Given the description of an element on the screen output the (x, y) to click on. 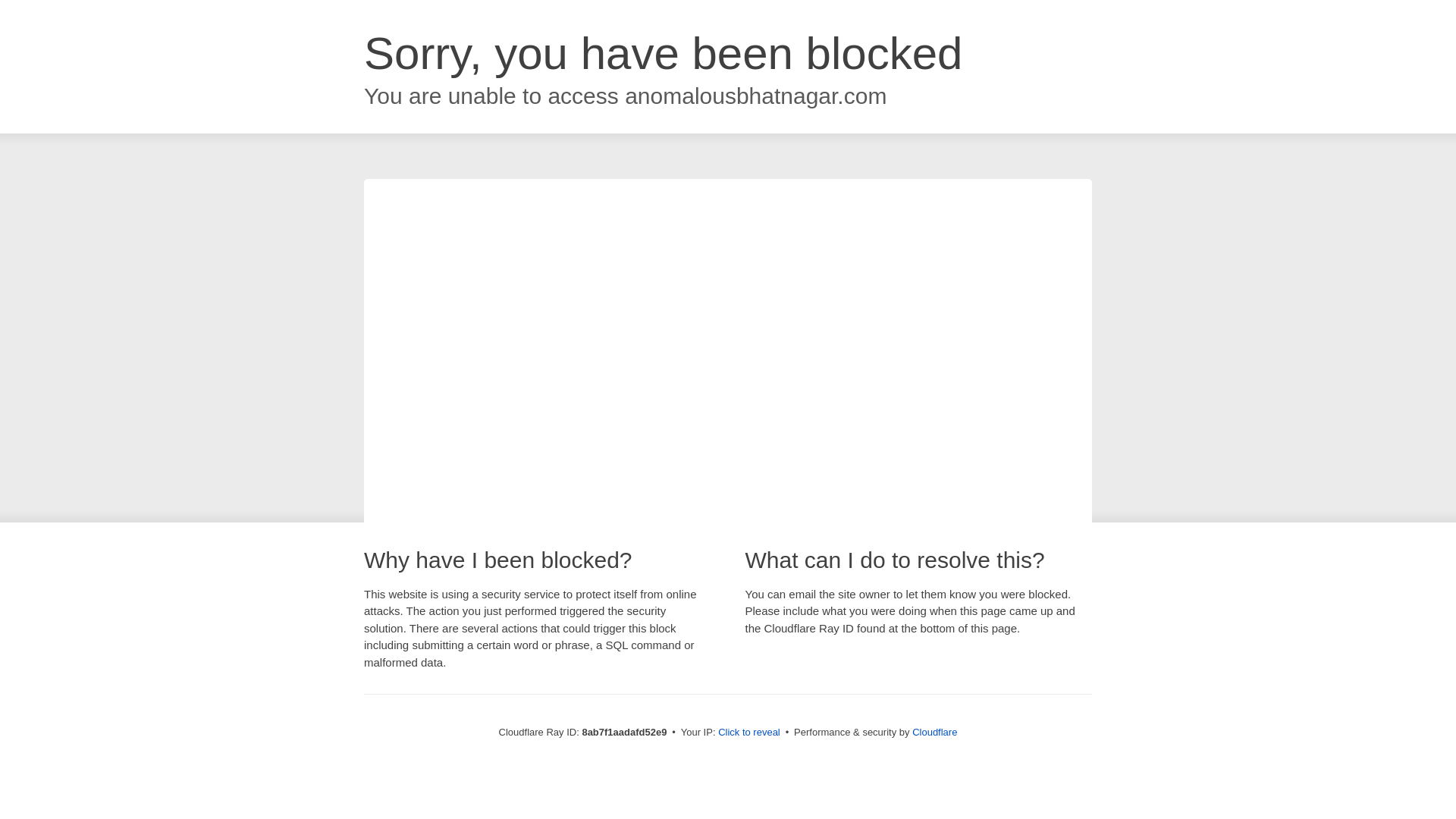
Click to reveal (748, 732)
Cloudflare (934, 731)
